Given the description of an element on the screen output the (x, y) to click on. 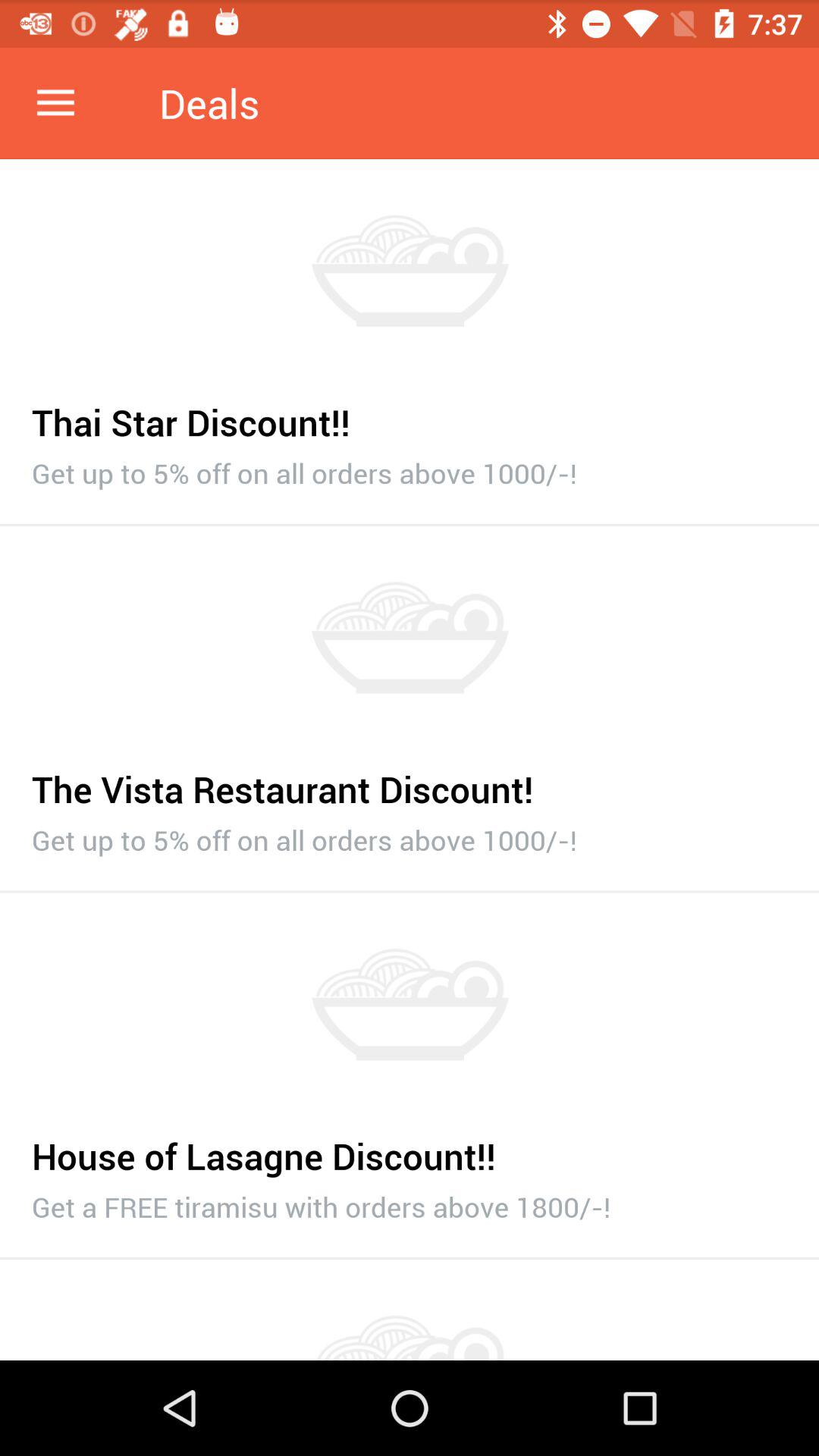
launch icon at the top left corner (55, 103)
